Given the description of an element on the screen output the (x, y) to click on. 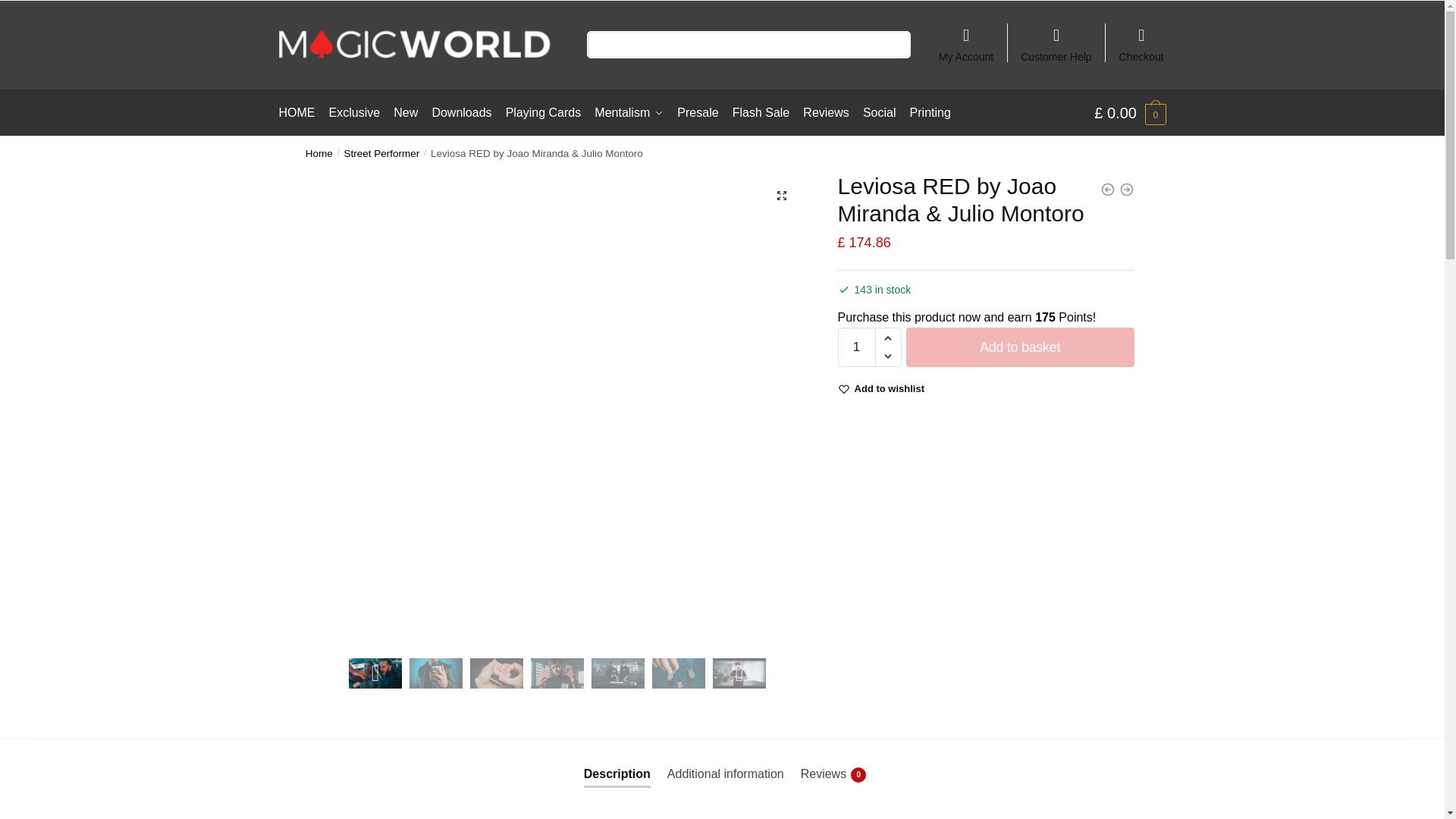
Wishlist (889, 388)
Home (319, 153)
Printing (930, 112)
View your shopping cart (1130, 112)
Street Performer (381, 153)
Reviews (826, 112)
My Account (966, 37)
Social (879, 112)
Mentalism (629, 112)
1 (857, 346)
Customer Help (1055, 37)
Presale (698, 112)
Exclusive (354, 112)
Checkout (1141, 37)
HOME (300, 112)
